Given the description of an element on the screen output the (x, y) to click on. 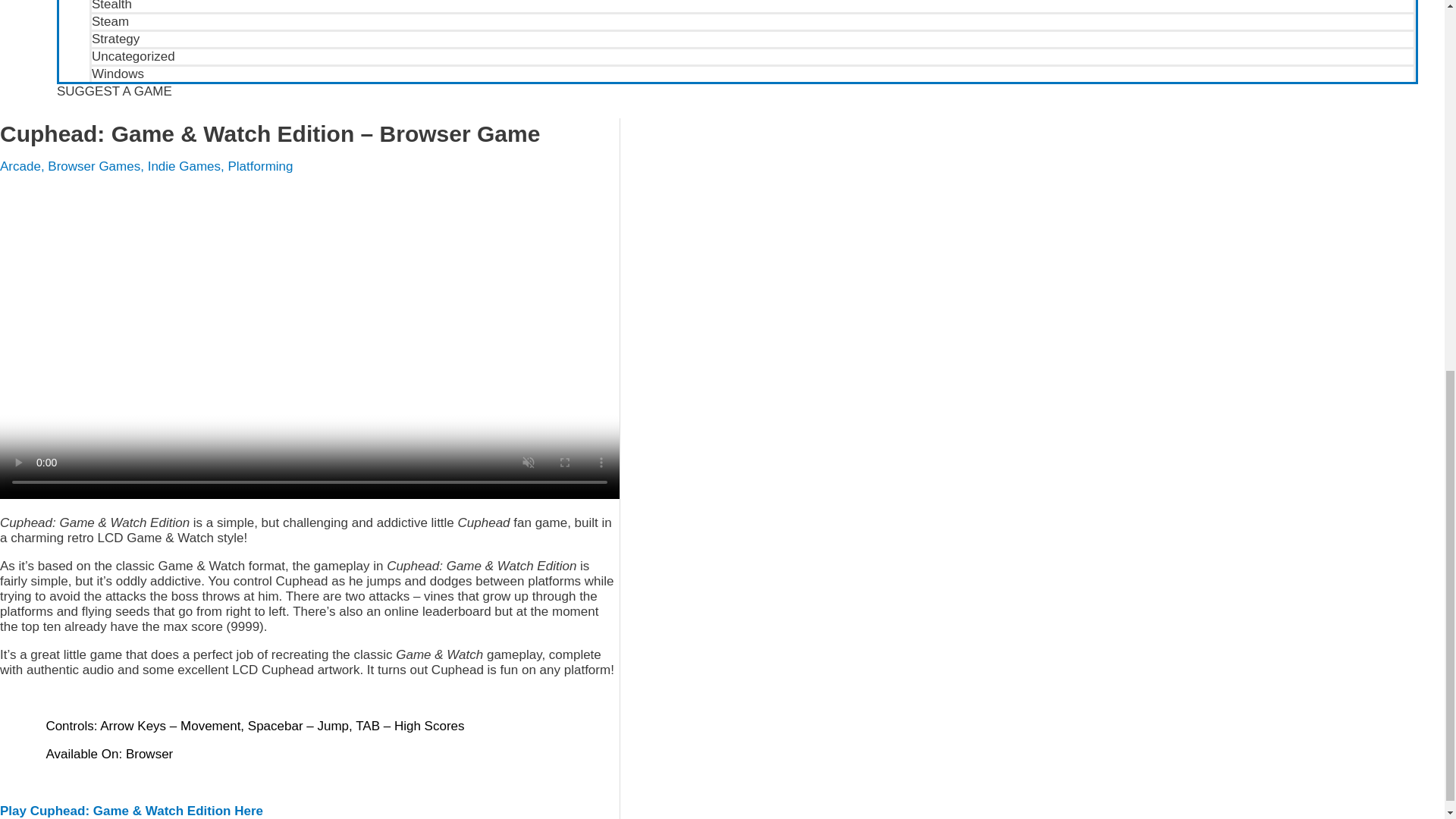
Strategy (751, 37)
Steam (751, 20)
Windows (751, 72)
Uncategorized (751, 55)
